Given the description of an element on the screen output the (x, y) to click on. 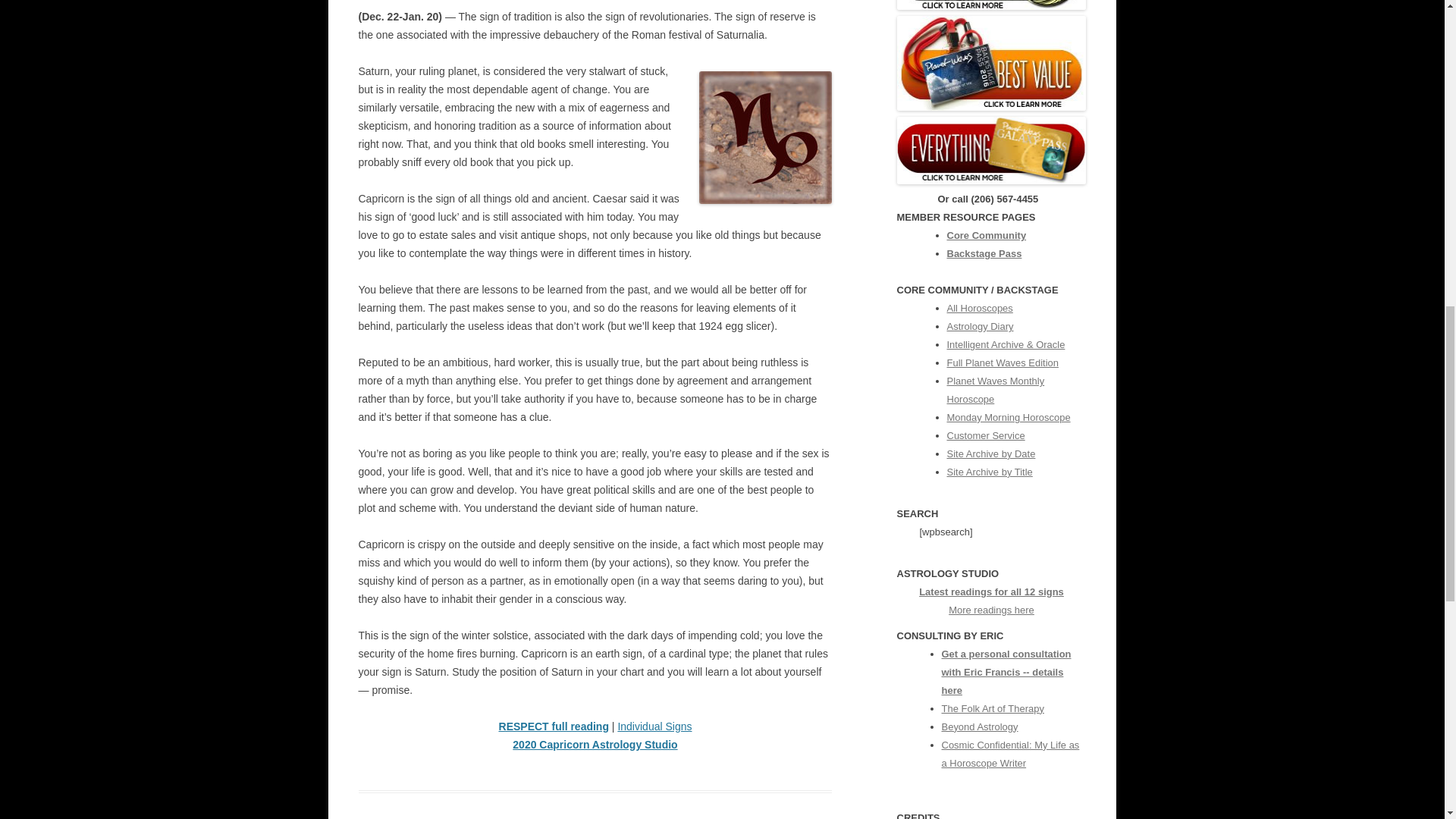
RESPECT full reading (553, 726)
Core Community (986, 235)
Individual Signs (654, 726)
2020 Capricorn Astrology Studio (594, 744)
